Given the description of an element on the screen output the (x, y) to click on. 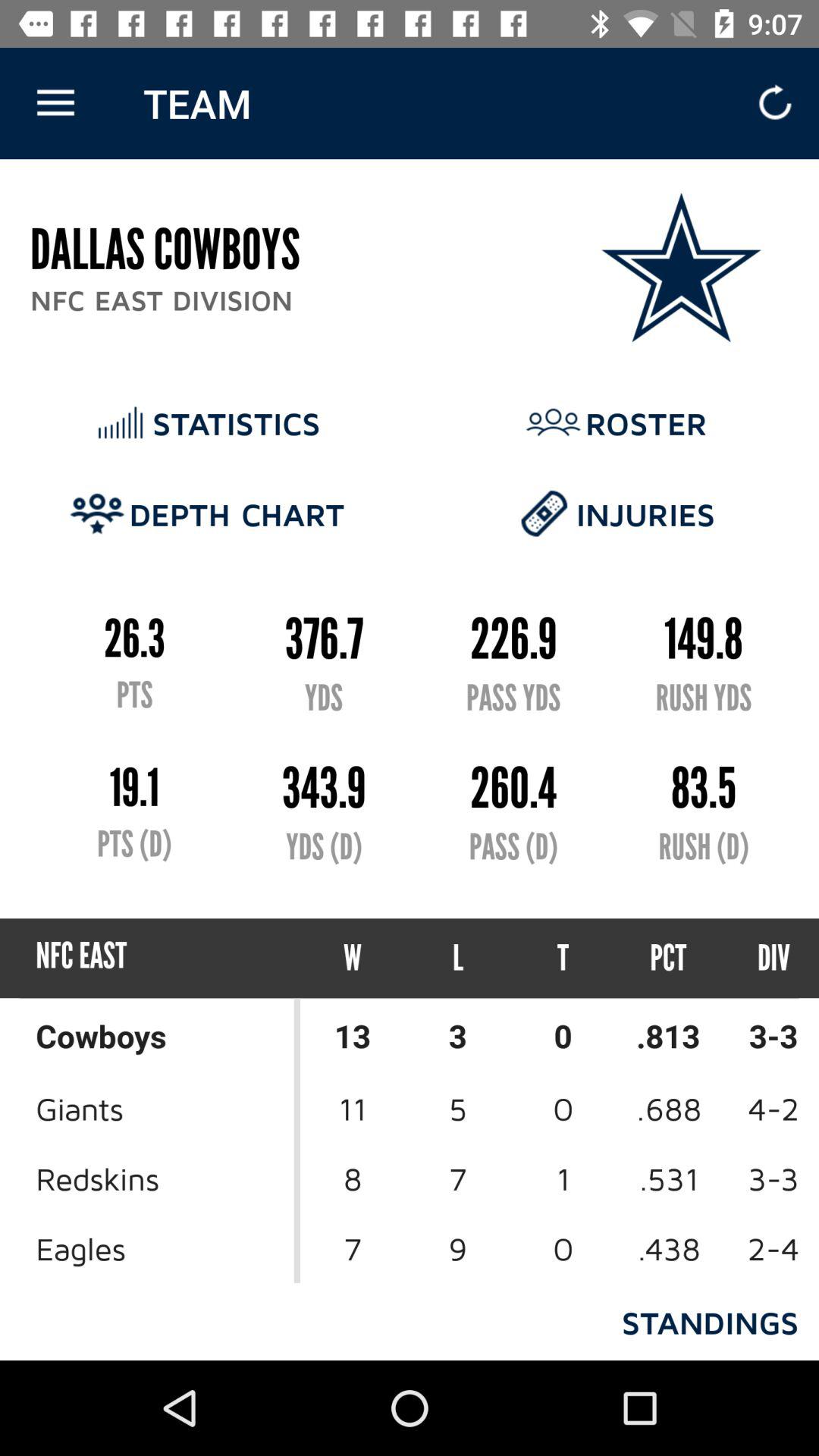
open item next to pct icon (760, 958)
